Given the description of an element on the screen output the (x, y) to click on. 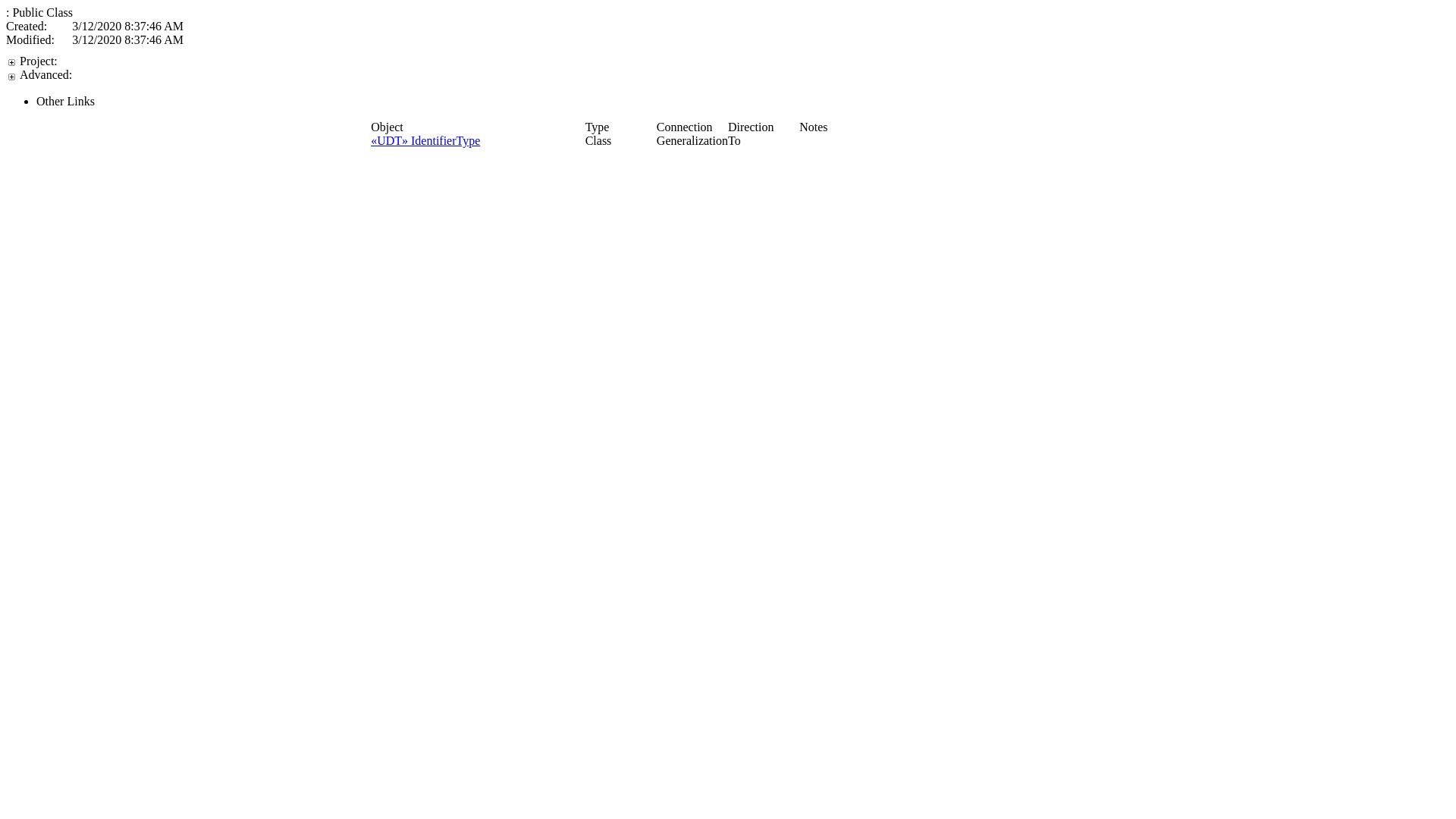
Other Links Element type: text (742, 101)
